Given the description of an element on the screen output the (x, y) to click on. 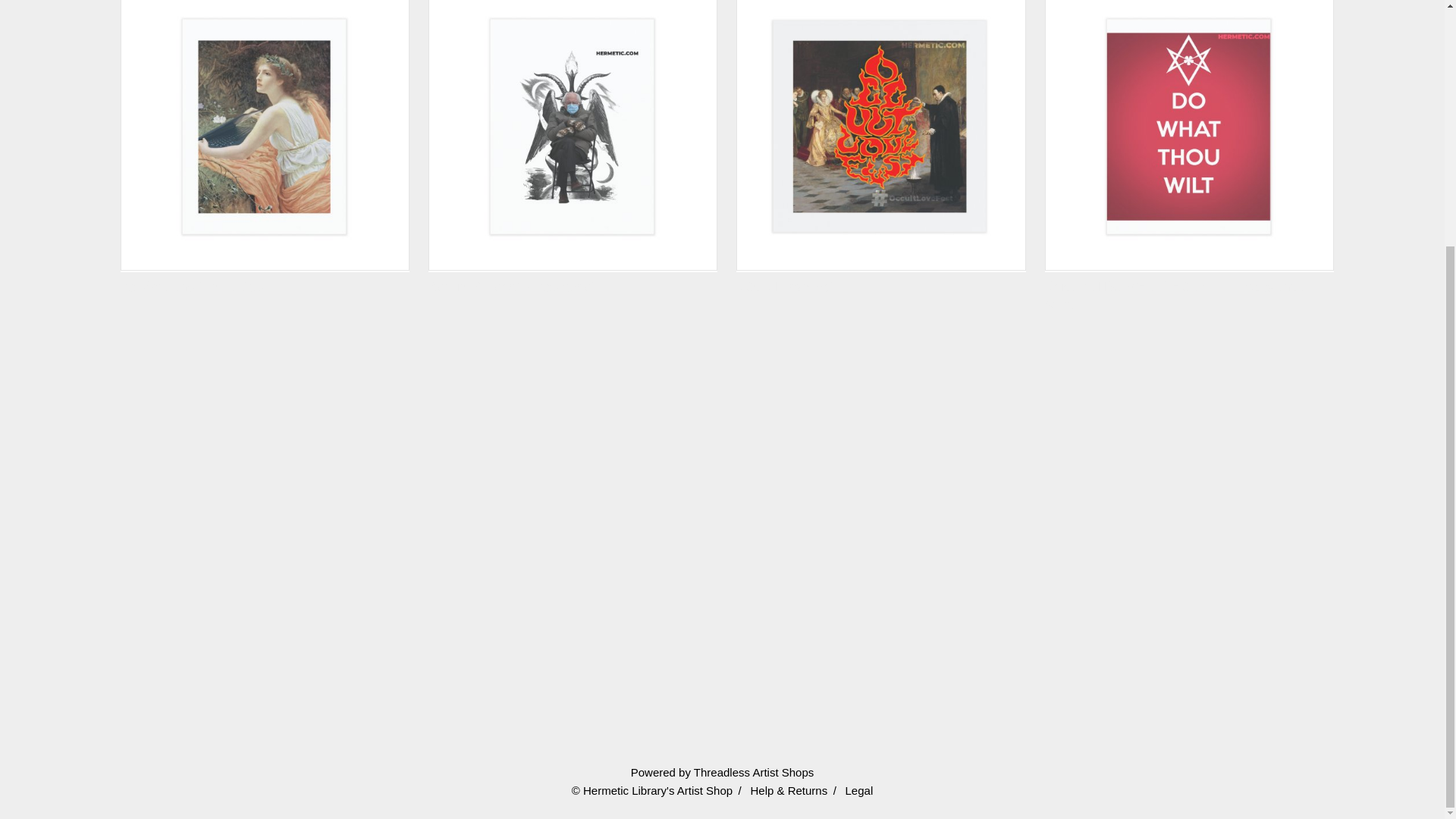
Threadless Artist Shops (753, 771)
Legal (859, 789)
Pandora and the Laptop (264, 147)
